Given the description of an element on the screen output the (x, y) to click on. 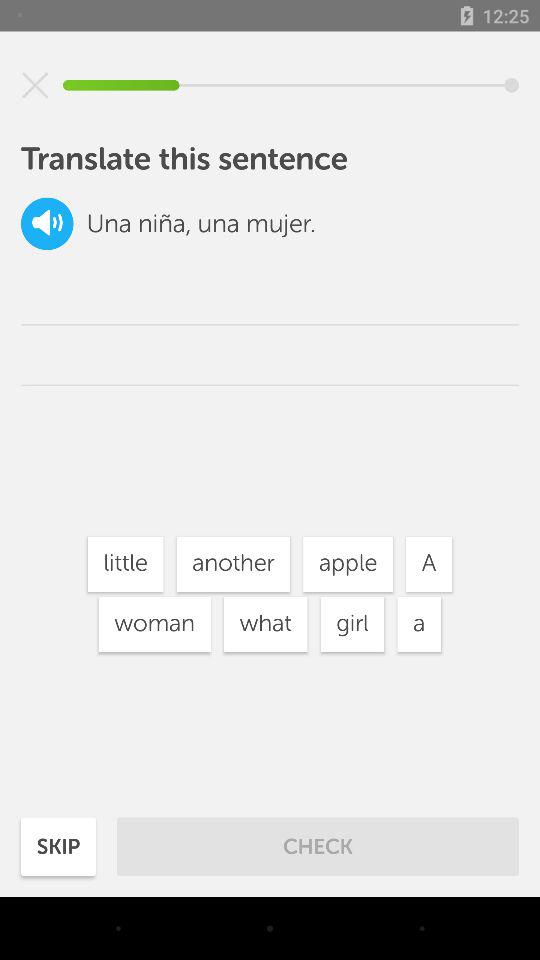
turn on icon next to the another (348, 563)
